Given the description of an element on the screen output the (x, y) to click on. 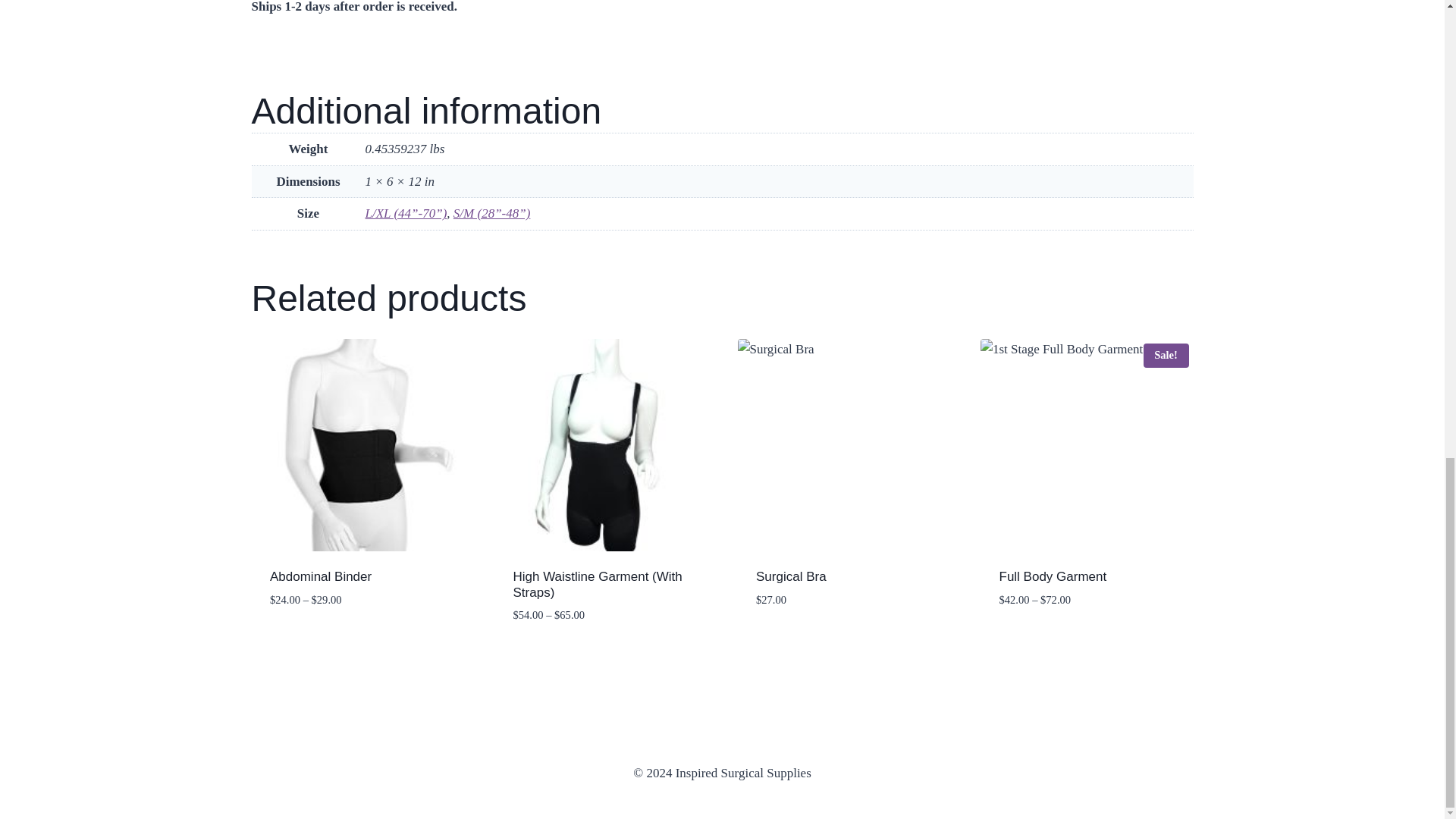
Sale! (1086, 445)
Surgical Bra (791, 576)
Abdominal Binder (320, 576)
